Given the description of an element on the screen output the (x, y) to click on. 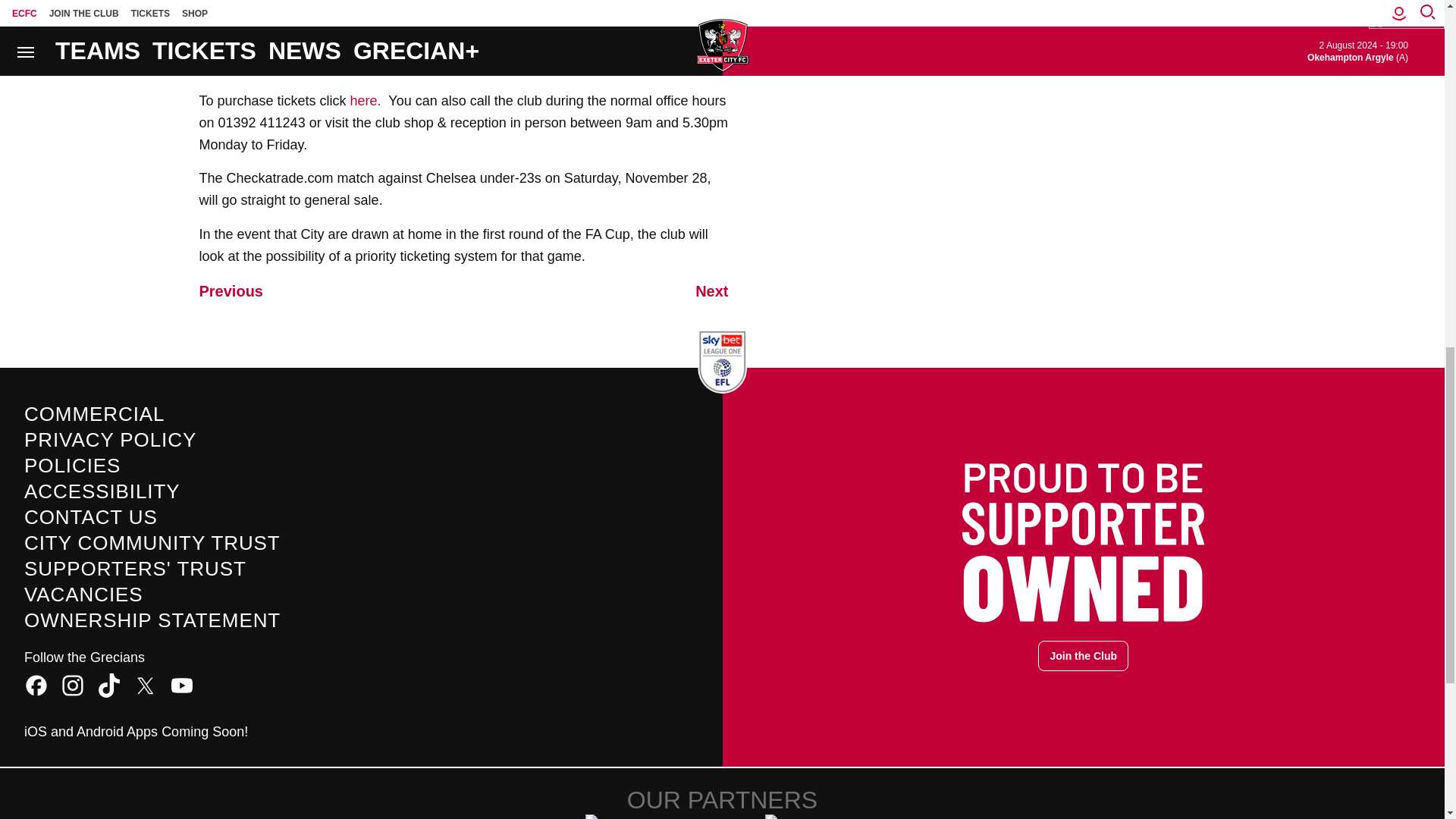
TikTok icon (108, 685)
HEL (632, 816)
The Trust (812, 816)
Instagram (72, 685)
X Formally know as Twitter (145, 685)
Facebook (36, 685)
